Given the description of an element on the screen output the (x, y) to click on. 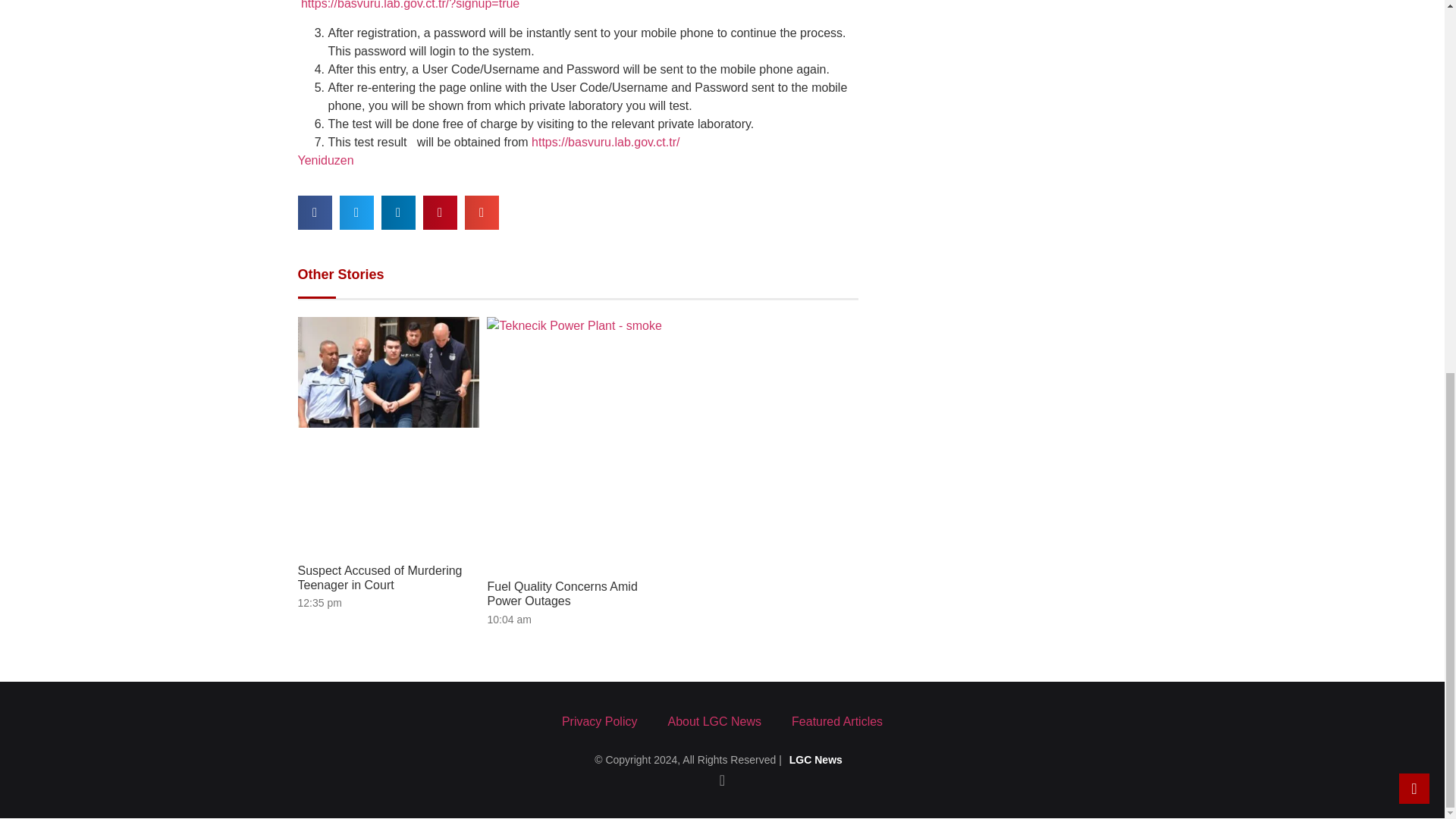
Fuel Quality Concerns Amid Power Outages (561, 593)
Featured Articles (837, 721)
LGC News (816, 759)
Suspect Accused of Murdering Teenager in Court (379, 577)
Yeniduzen (325, 160)
About LGC News (714, 721)
Privacy Policy (599, 721)
